Given the description of an element on the screen output the (x, y) to click on. 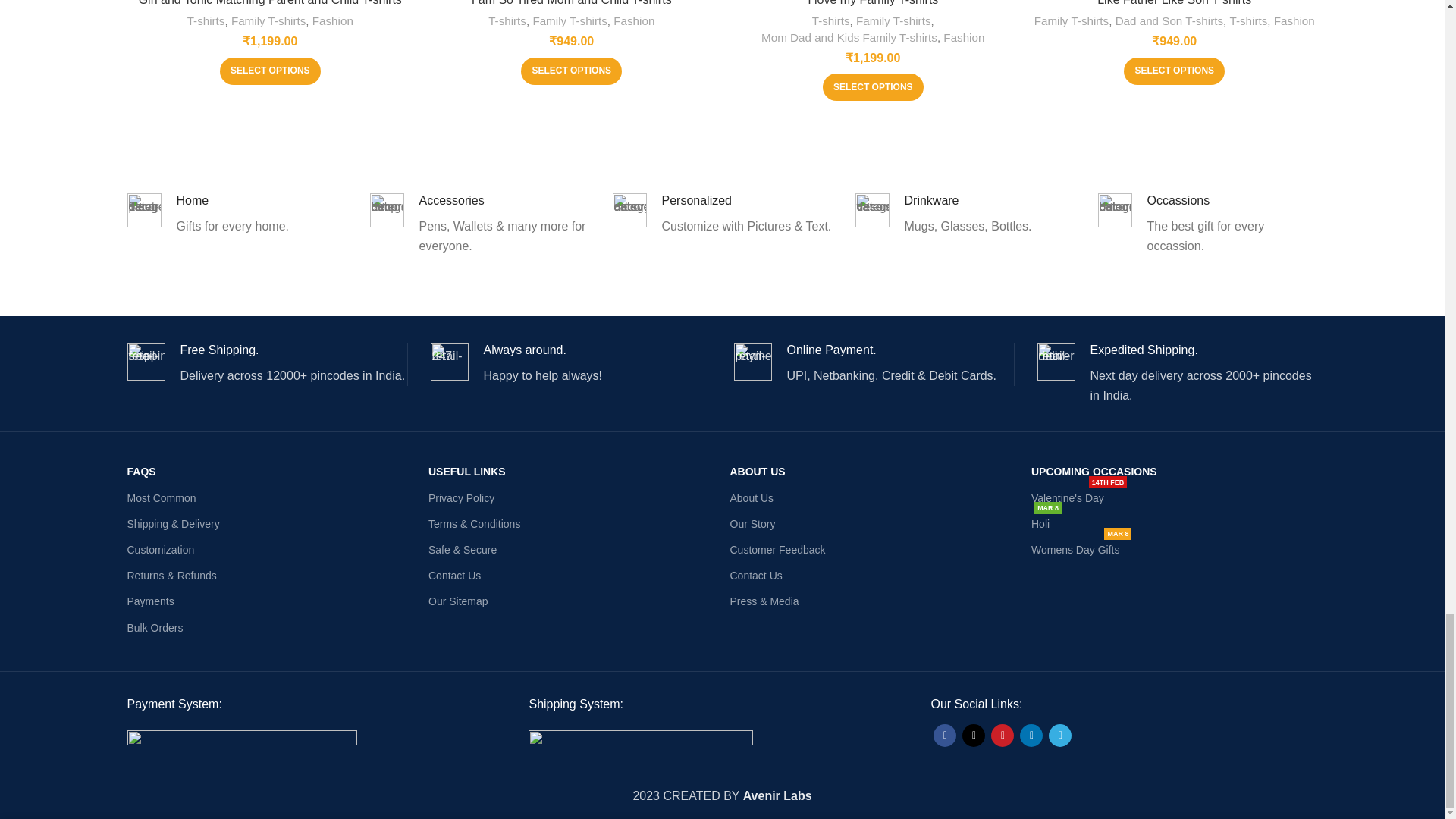
decor-category-baloons.svg (1114, 210)
decor-category-lamp.svg (386, 210)
retail-free-shipping (146, 361)
decor-category-plant-1.svg (144, 210)
decor-category-art.svg (629, 210)
decor-category-vase.svg (872, 210)
